Given the description of an element on the screen output the (x, y) to click on. 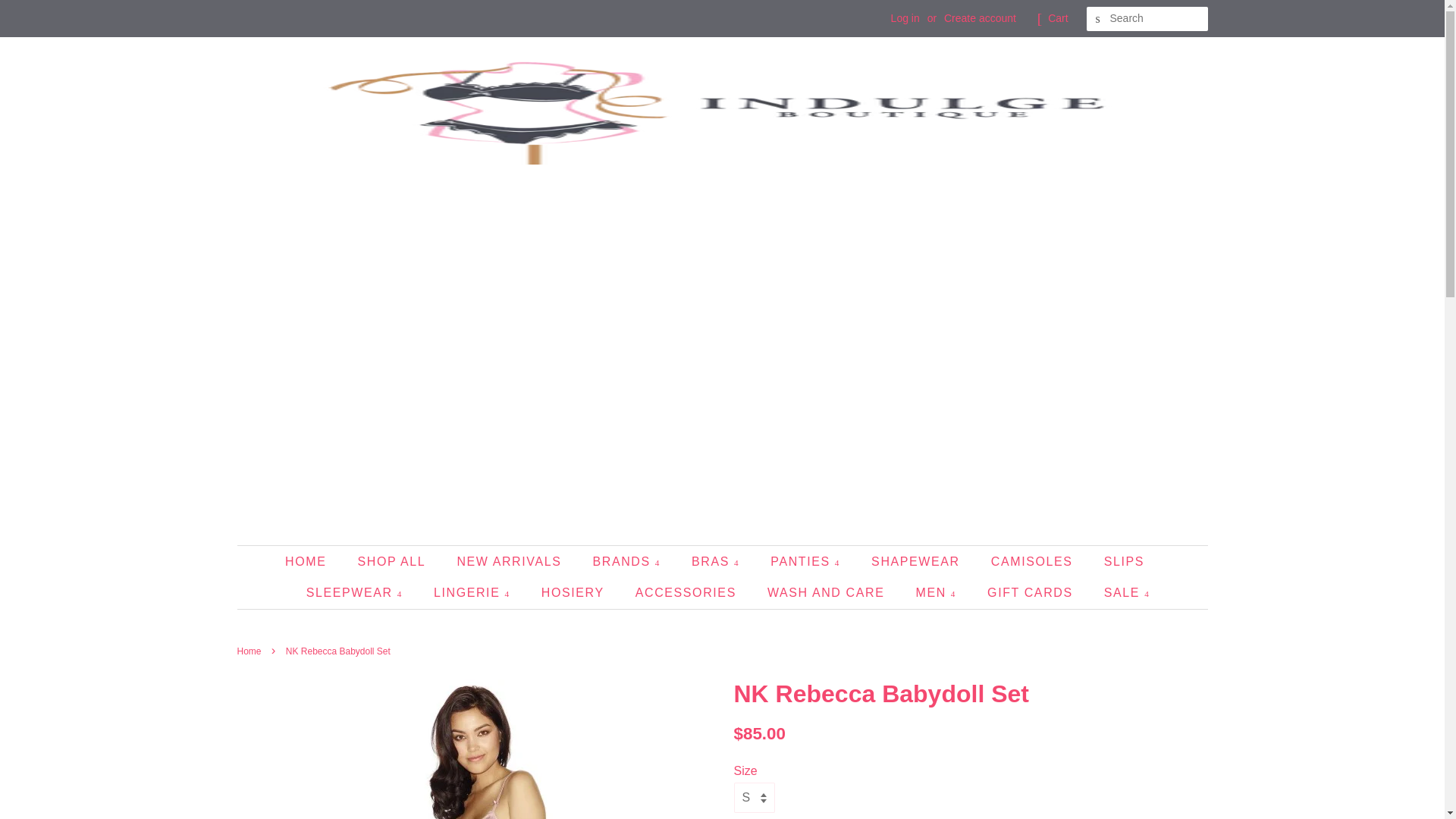
SEARCH (1097, 18)
Create account (979, 18)
Back to the frontpage (249, 651)
Cart (1057, 18)
Log in (905, 18)
